Given the description of an element on the screen output the (x, y) to click on. 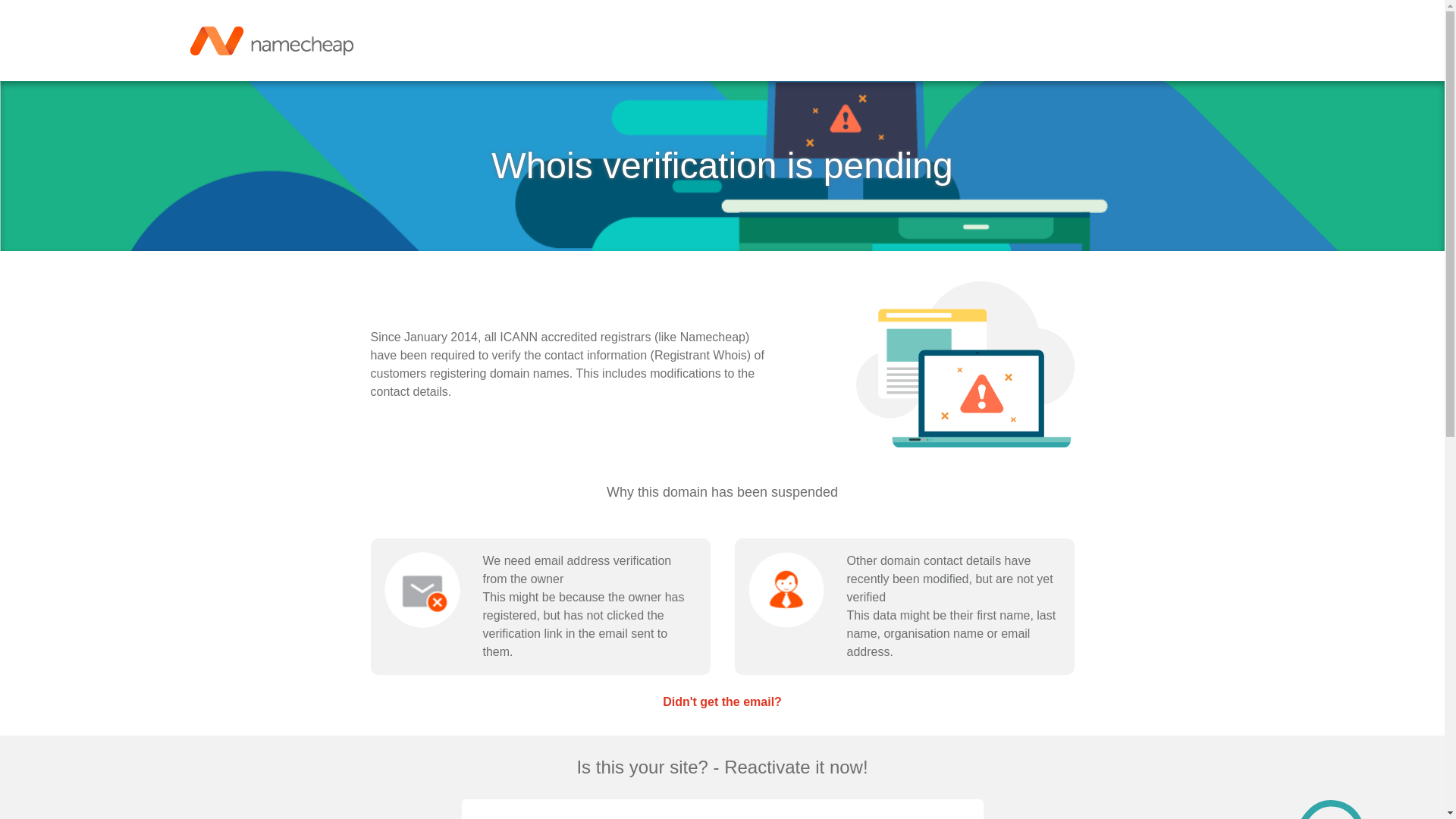
Didn't get the email? (721, 701)
